Given the description of an element on the screen output the (x, y) to click on. 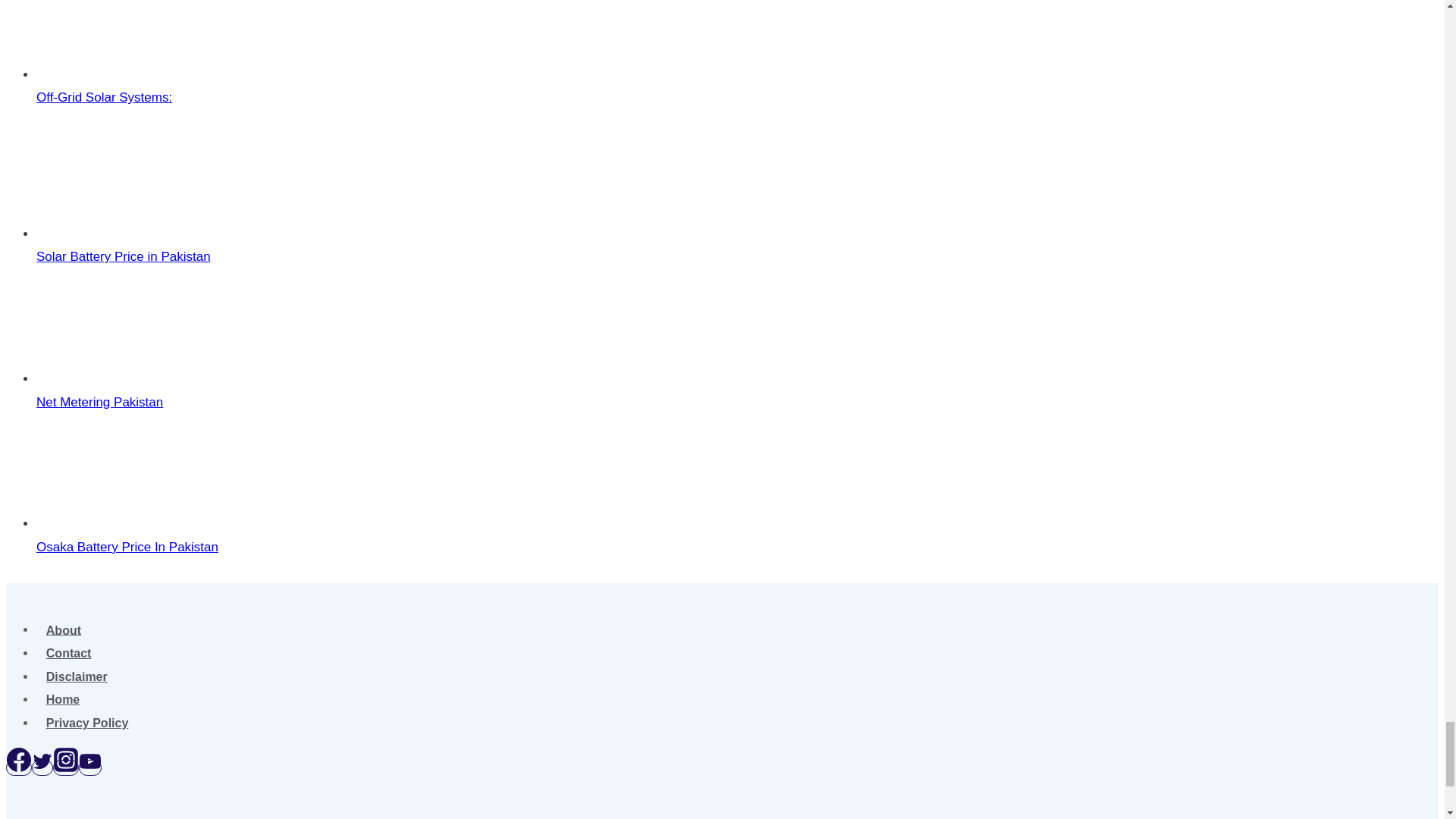
Twitter (42, 761)
YouTube (90, 761)
Facebook (18, 759)
Instagram (65, 759)
